Given the description of an element on the screen output the (x, y) to click on. 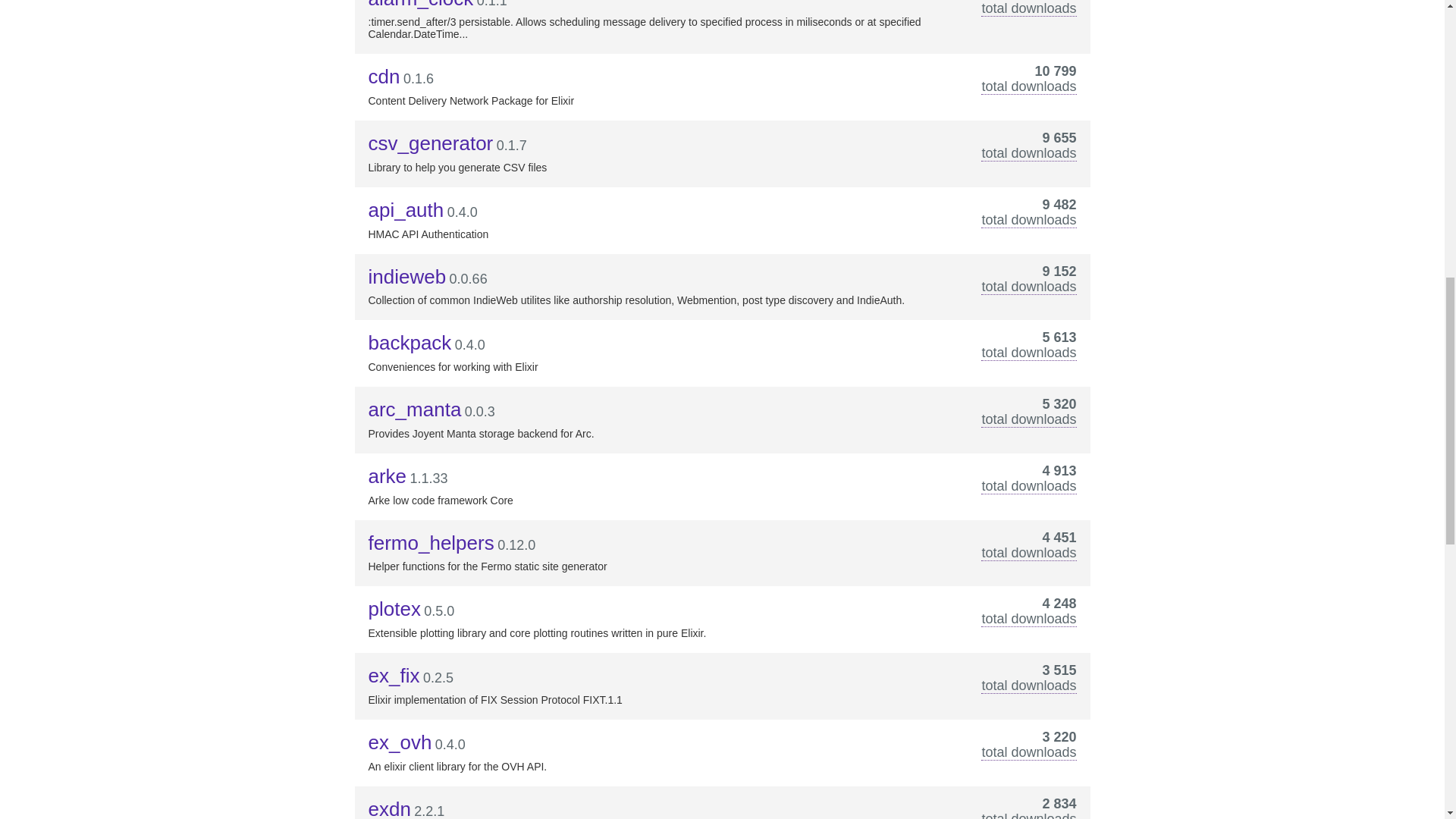
backpack (409, 342)
exdn (389, 808)
indieweb (407, 276)
plotex (394, 608)
cdn (384, 76)
arke (387, 476)
